Given the description of an element on the screen output the (x, y) to click on. 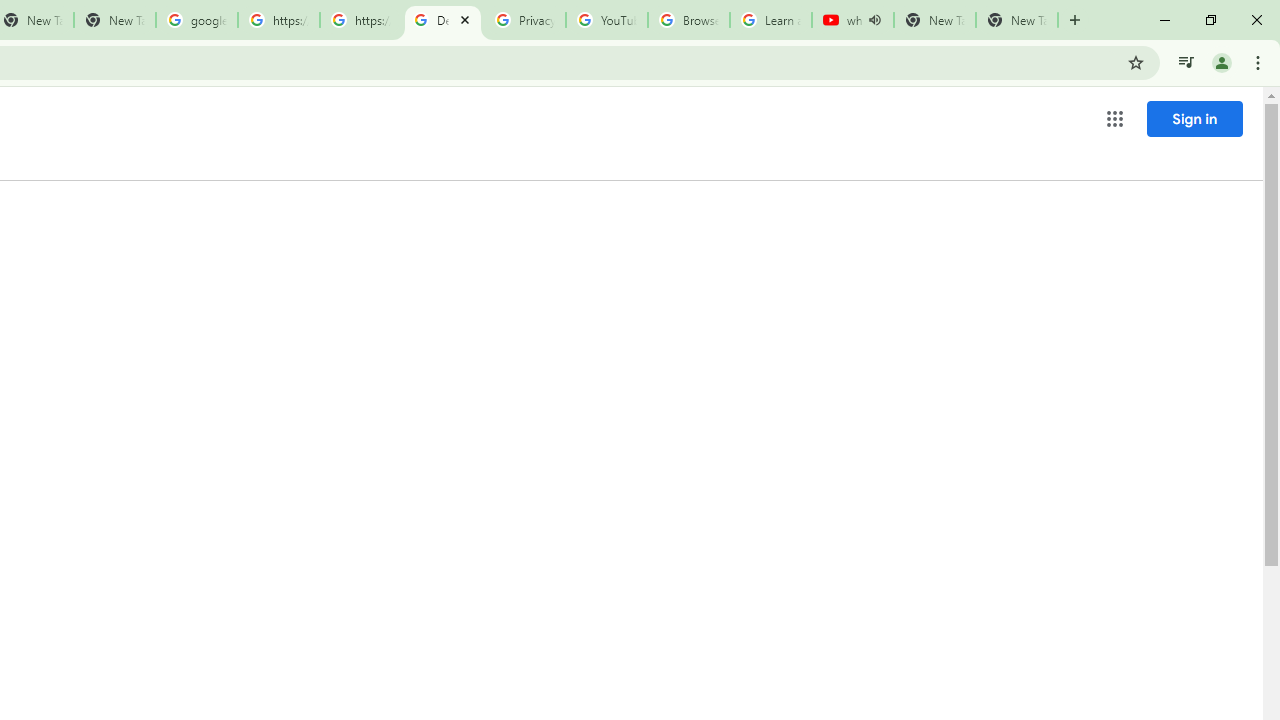
New Tab (1016, 20)
YouTube (606, 20)
https://scholar.google.com/ (278, 20)
Mute tab (874, 20)
